Given the description of an element on the screen output the (x, y) to click on. 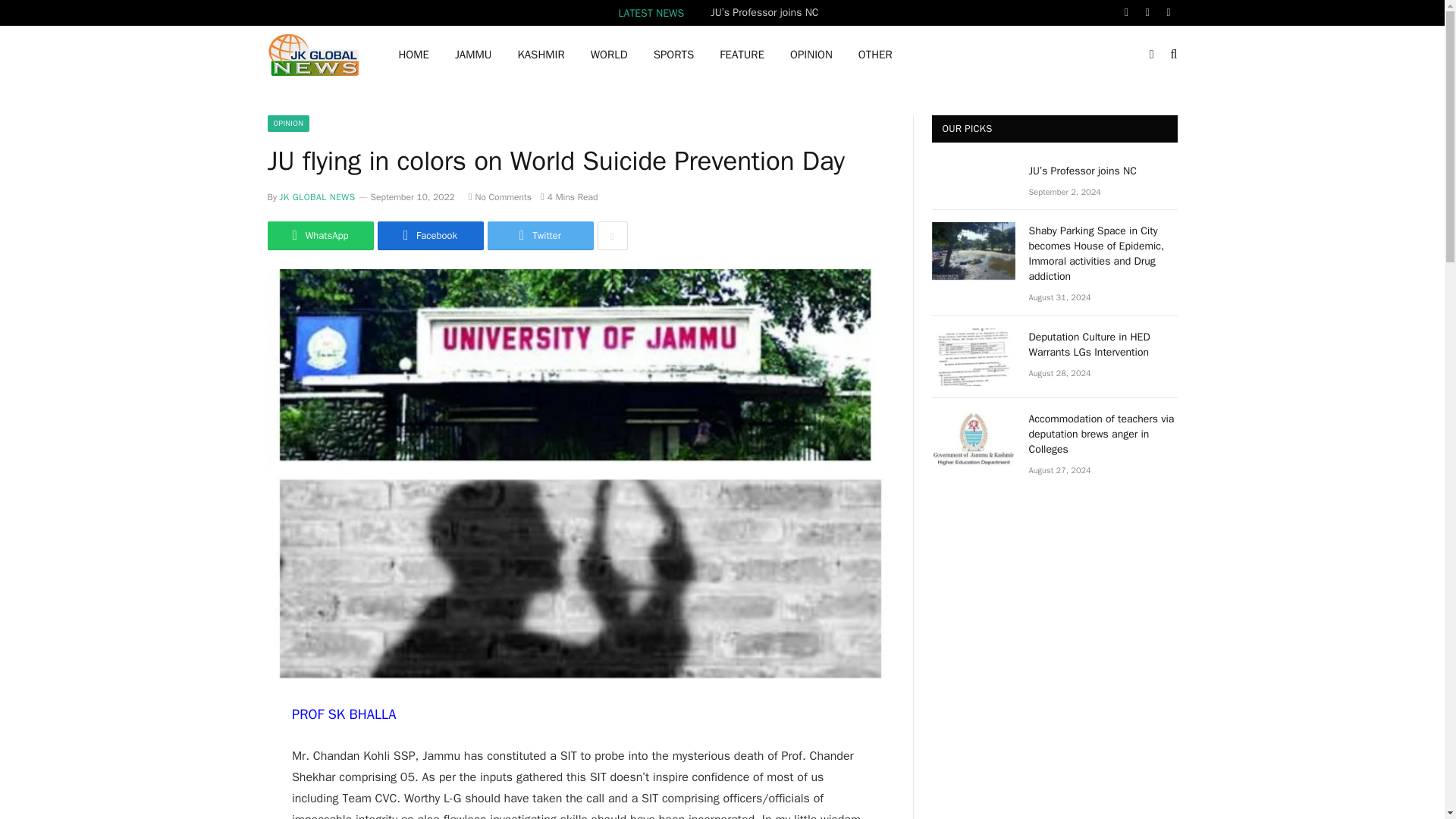
WORLD (609, 54)
Posts by JK Global News (317, 196)
JAMMU (473, 54)
Show More Social Sharing (611, 235)
Share via WhatsApp (319, 235)
OPINION (811, 54)
KASHMIR (539, 54)
JK Globalnews (312, 54)
OTHER (875, 54)
